Given the description of an element on the screen output the (x, y) to click on. 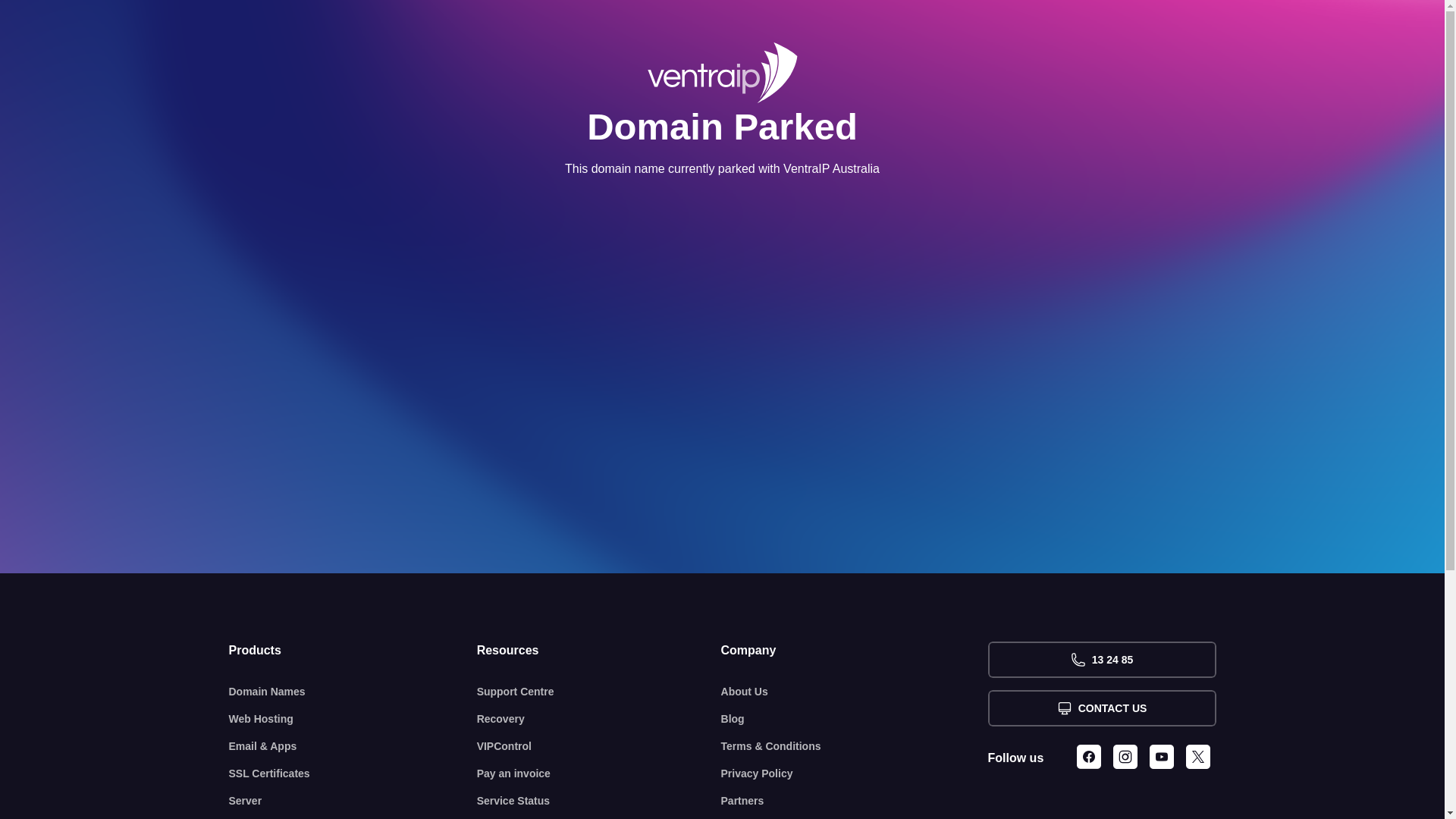
Partners Element type: text (854, 800)
Web Hosting Element type: text (352, 718)
Recovery Element type: text (598, 718)
Domain Names Element type: text (352, 691)
Support Centre Element type: text (598, 691)
About Us Element type: text (854, 691)
Terms & Conditions Element type: text (854, 745)
SSL Certificates Element type: text (352, 773)
Service Status Element type: text (598, 800)
Email & Apps Element type: text (352, 745)
Privacy Policy Element type: text (854, 773)
CONTACT US Element type: text (1101, 708)
VIPControl Element type: text (598, 745)
Pay an invoice Element type: text (598, 773)
13 24 85 Element type: text (1101, 659)
Server Element type: text (352, 800)
Blog Element type: text (854, 718)
